Given the description of an element on the screen output the (x, y) to click on. 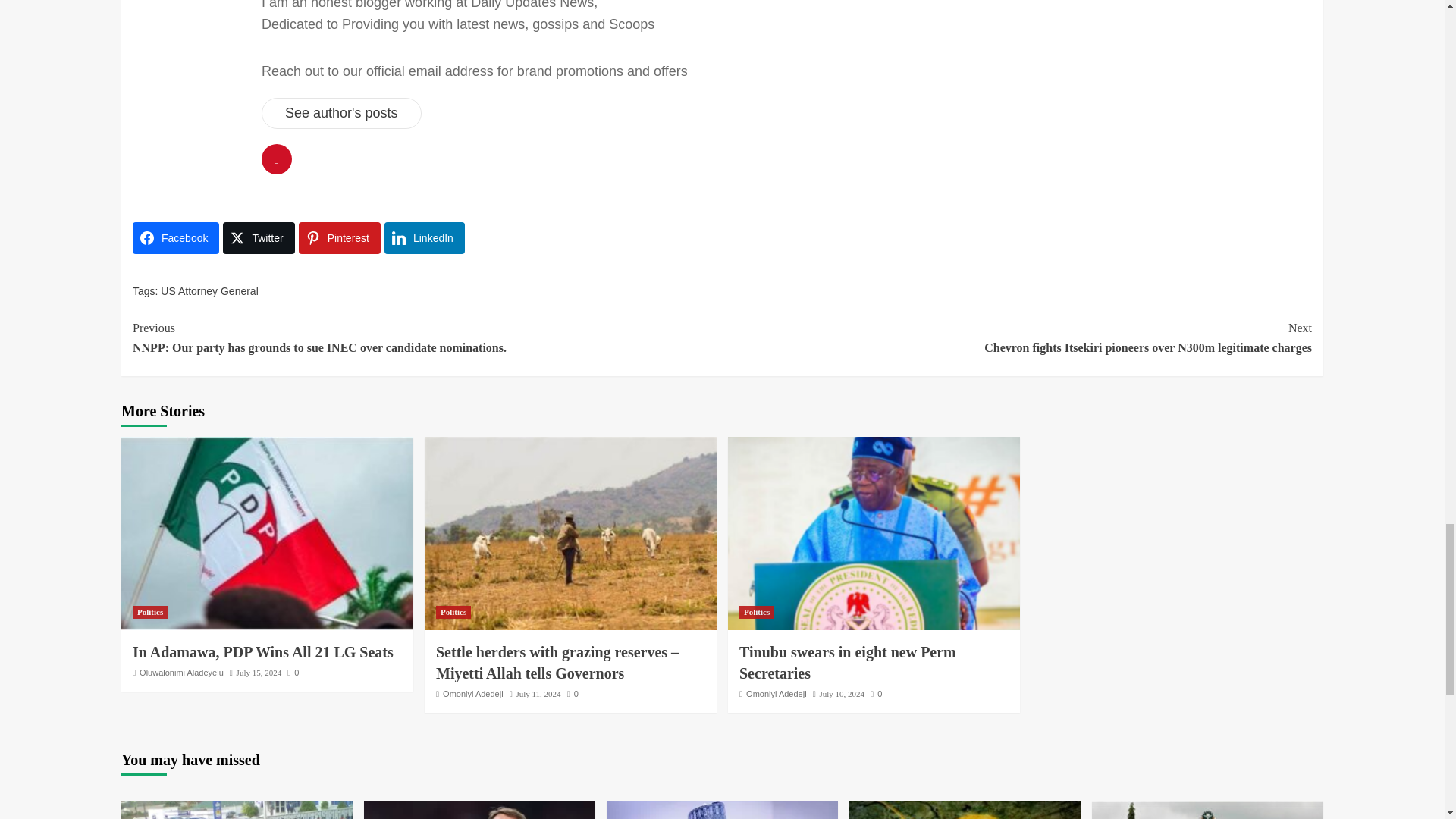
July 15, 2024 (258, 672)
Politics (149, 612)
Pinterest (339, 237)
Share on Twitter (258, 237)
See author's posts (342, 112)
LinkedIn (424, 237)
Share on LinkedIn (424, 237)
Share on Pinterest (339, 237)
Share on Facebook (175, 237)
Oluwalonimi Aladeyelu (181, 672)
In Adamawa, PDP Wins All 21 LG Seats (262, 651)
Twitter (258, 237)
Facebook (175, 237)
